Given the description of an element on the screen output the (x, y) to click on. 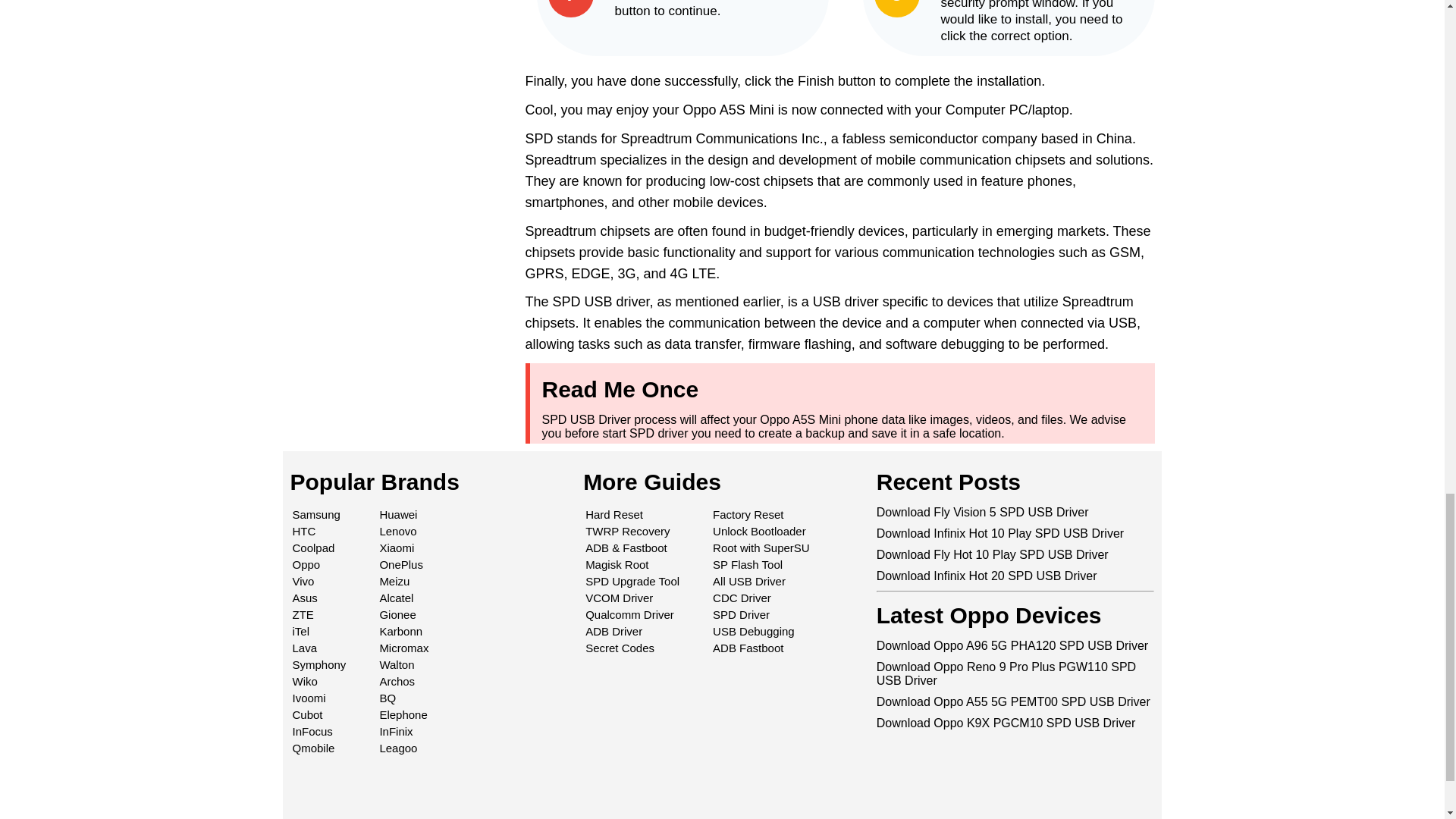
Lenovo (397, 530)
HTC (303, 530)
Vivo (303, 581)
OnePlus (400, 563)
Huawei (397, 513)
Oppo (306, 563)
Samsung (316, 513)
Coolpad (313, 547)
Xiaomi (395, 547)
Meizu (393, 581)
